Given the description of an element on the screen output the (x, y) to click on. 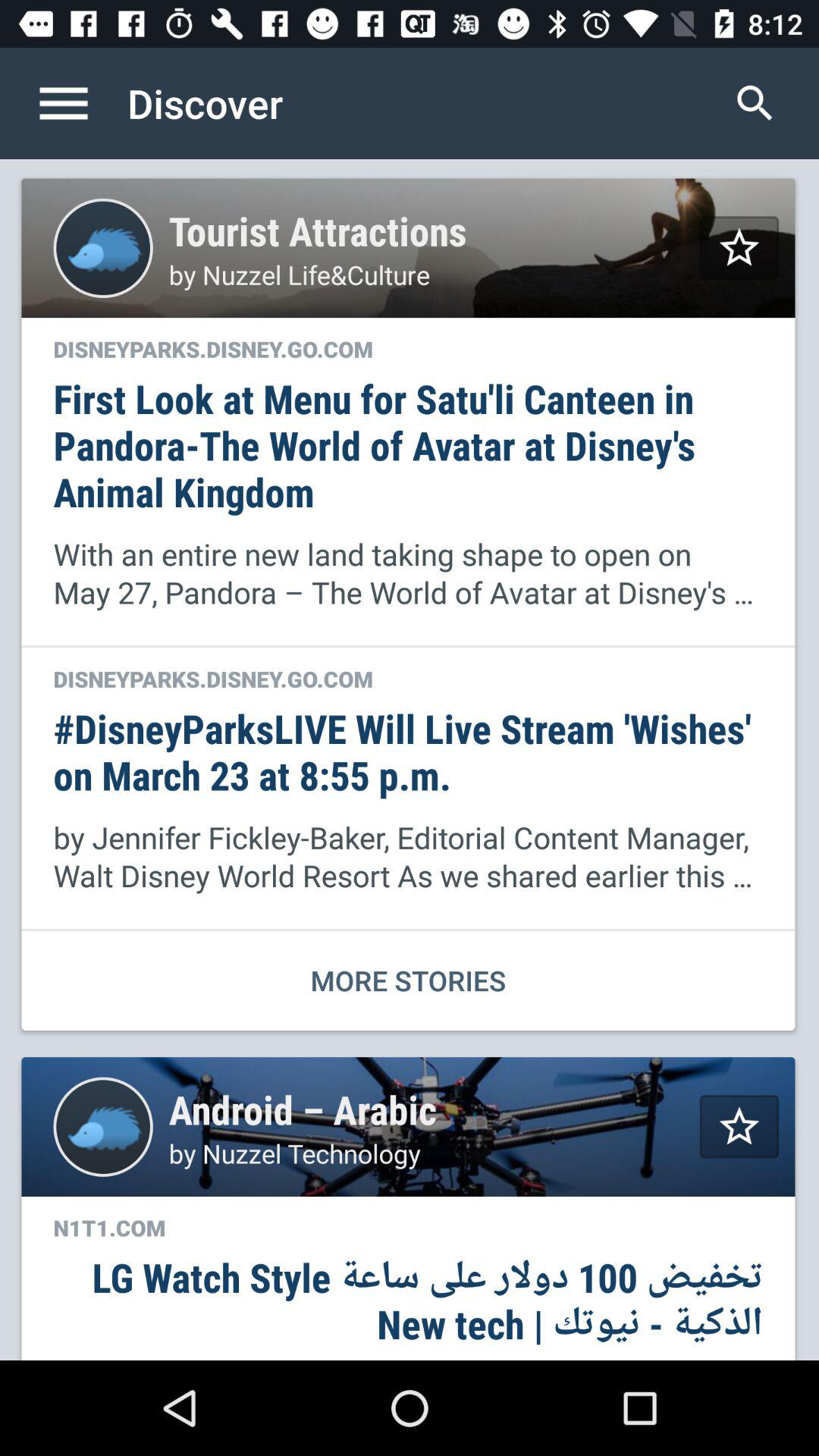
flip until the more stories item (408, 980)
